Given the description of an element on the screen output the (x, y) to click on. 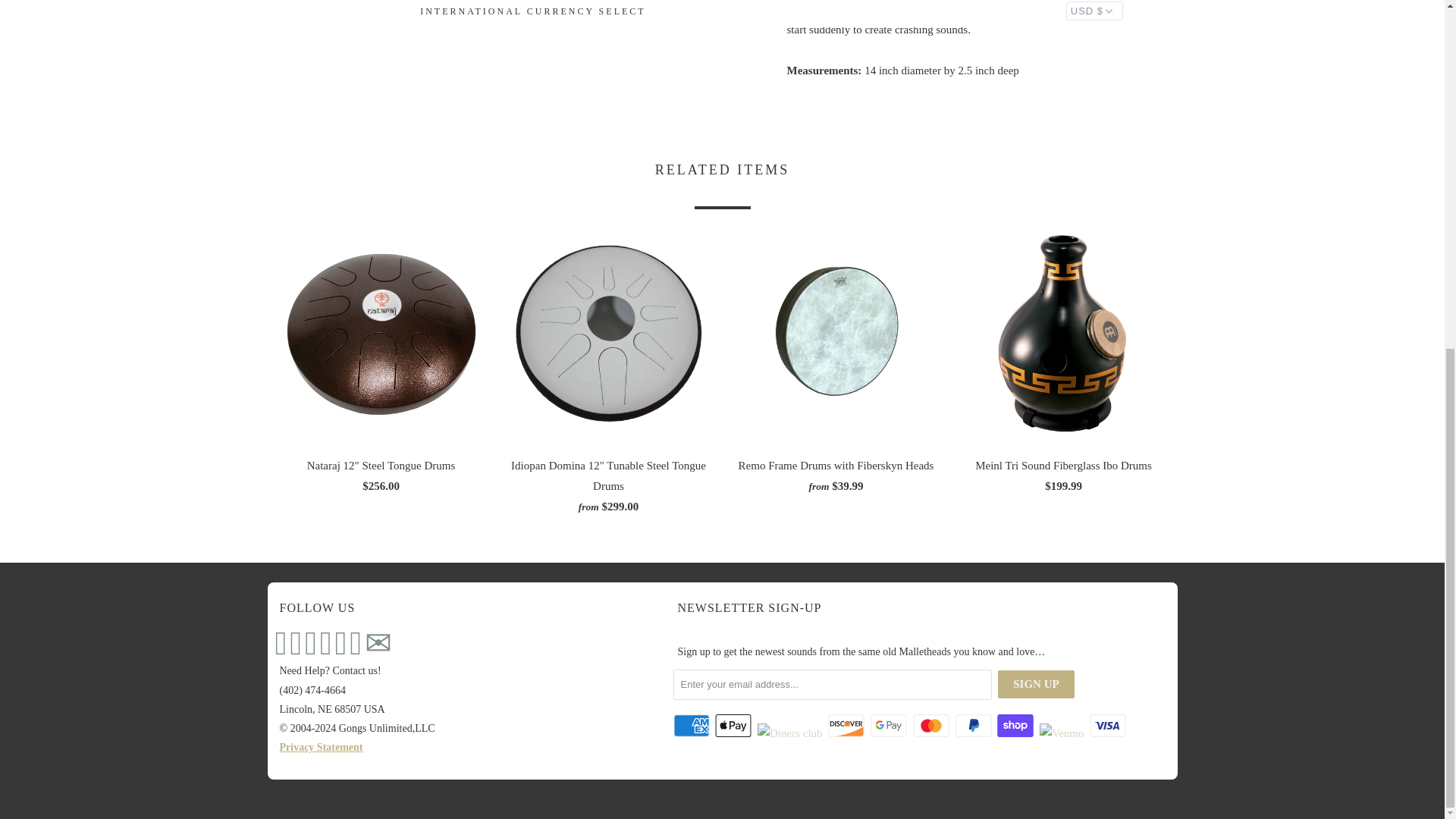
Sign Up (1035, 684)
